Given the description of an element on the screen output the (x, y) to click on. 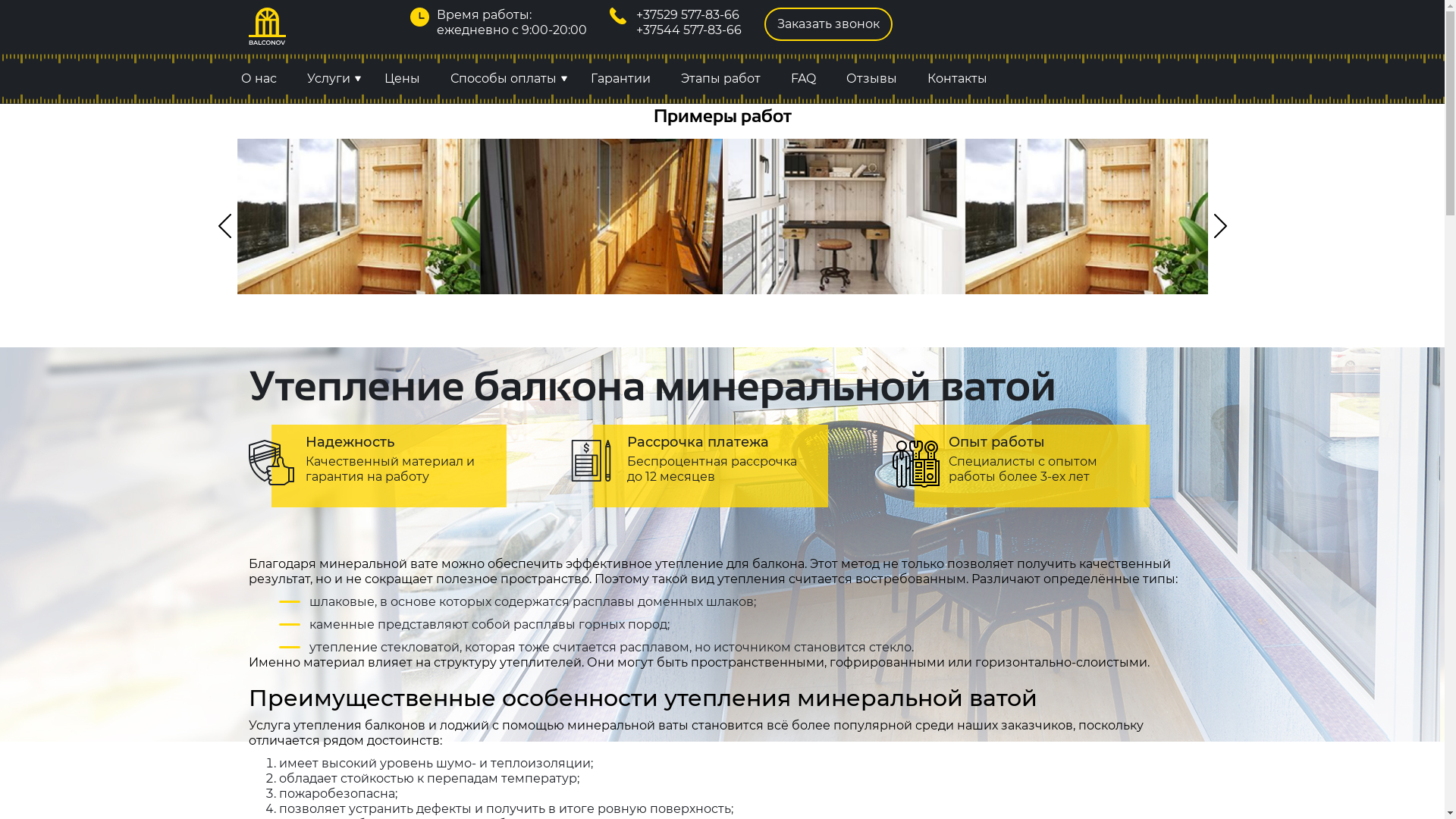
5 Element type: hover (600, 216)
+37544 577-83-66 Element type: text (688, 29)
6 Element type: hover (357, 216)
2 Element type: hover (1085, 216)
3 Element type: hover (842, 216)
FAQ Element type: text (802, 78)
+37529 577-83-66 Element type: text (687, 14)
